Given the description of an element on the screen output the (x, y) to click on. 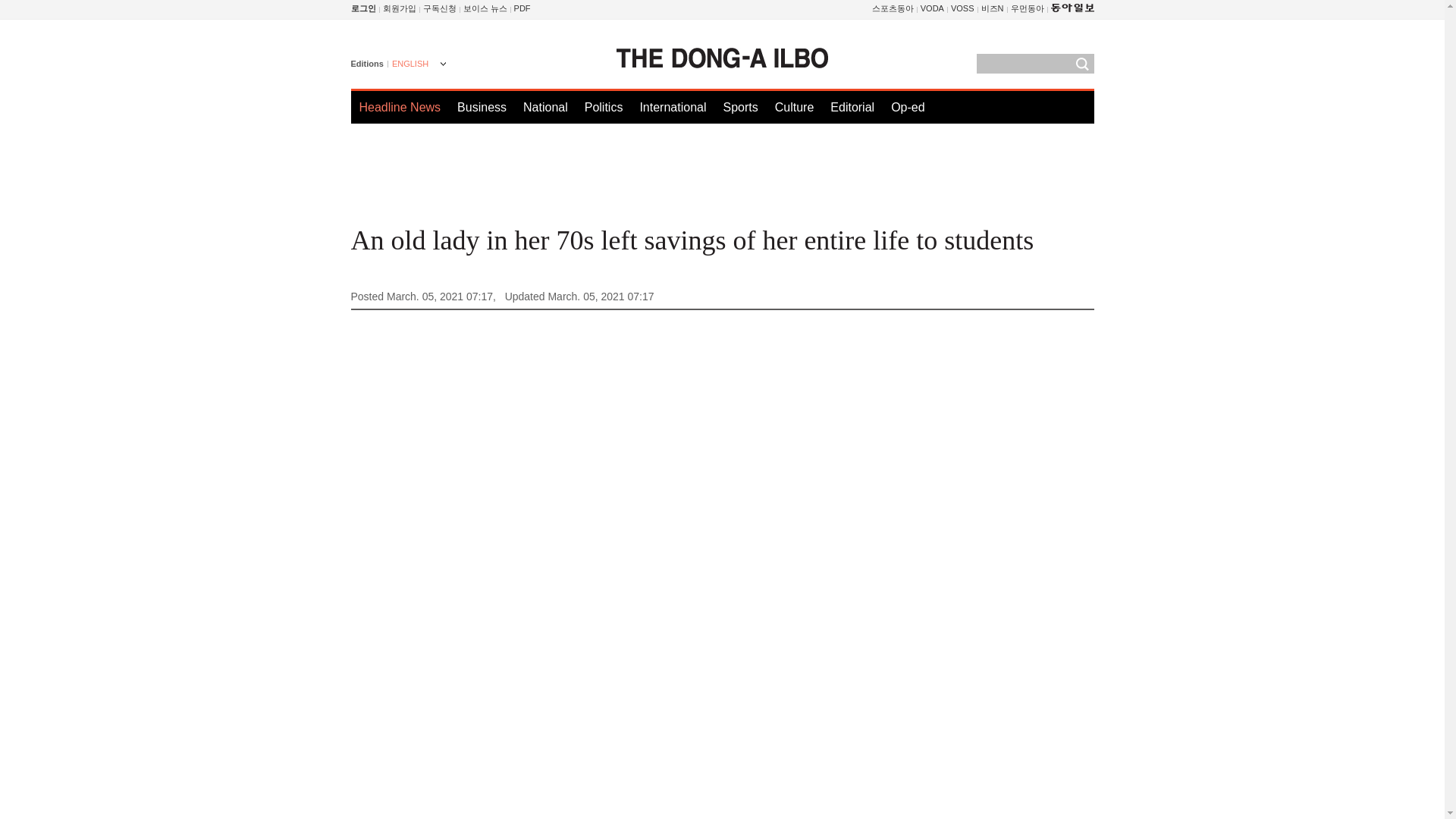
VOICE (484, 8)
Op-ed (907, 106)
National (544, 106)
SPORTS (893, 8)
International (672, 106)
READERS (440, 8)
Culture (793, 106)
WOMAN (1026, 8)
PDF (522, 8)
VOSS (962, 8)
